Given the description of an element on the screen output the (x, y) to click on. 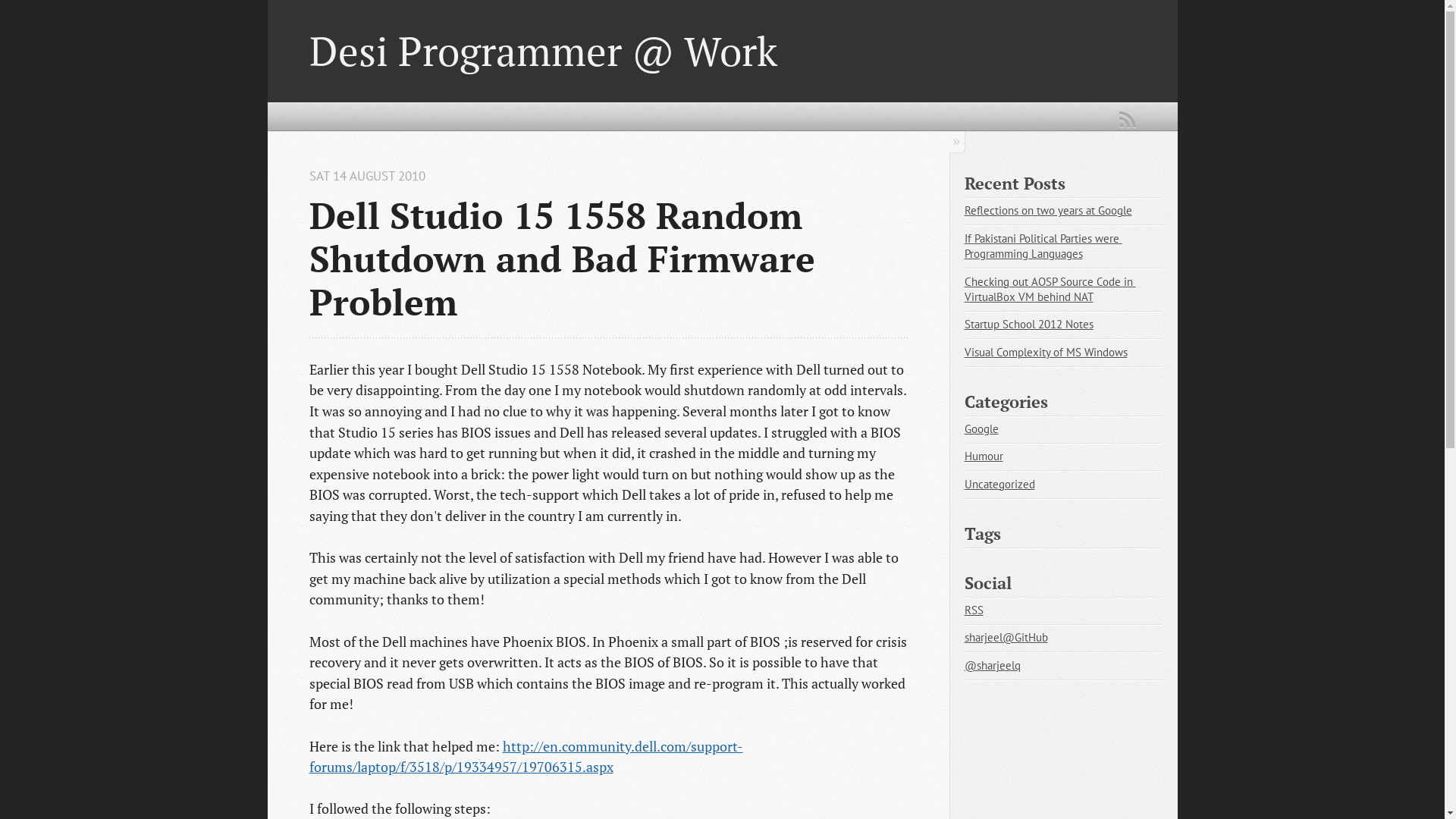
Checking out AOSP Source Code in VirtualBox VM behind NAT Element type: text (1049, 289)
Uncategorized Element type: text (999, 483)
Desi Programmer @ Work Element type: text (543, 50)
Reflections on two years at Google Element type: text (1048, 210)
Startup School 2012 Notes Element type: text (1028, 323)
RSS Element type: text (973, 609)
sharjeel@GitHub Element type: text (1006, 637)
@sharjeelq Element type: text (992, 665)
RSS Element type: text (1127, 119)
If Pakistani Political Parties were Programming Languages Element type: text (1043, 246)
Google Element type: text (981, 428)
Visual Complexity of MS Windows Element type: text (1045, 352)
Humour Element type: text (983, 455)
